Given the description of an element on the screen output the (x, y) to click on. 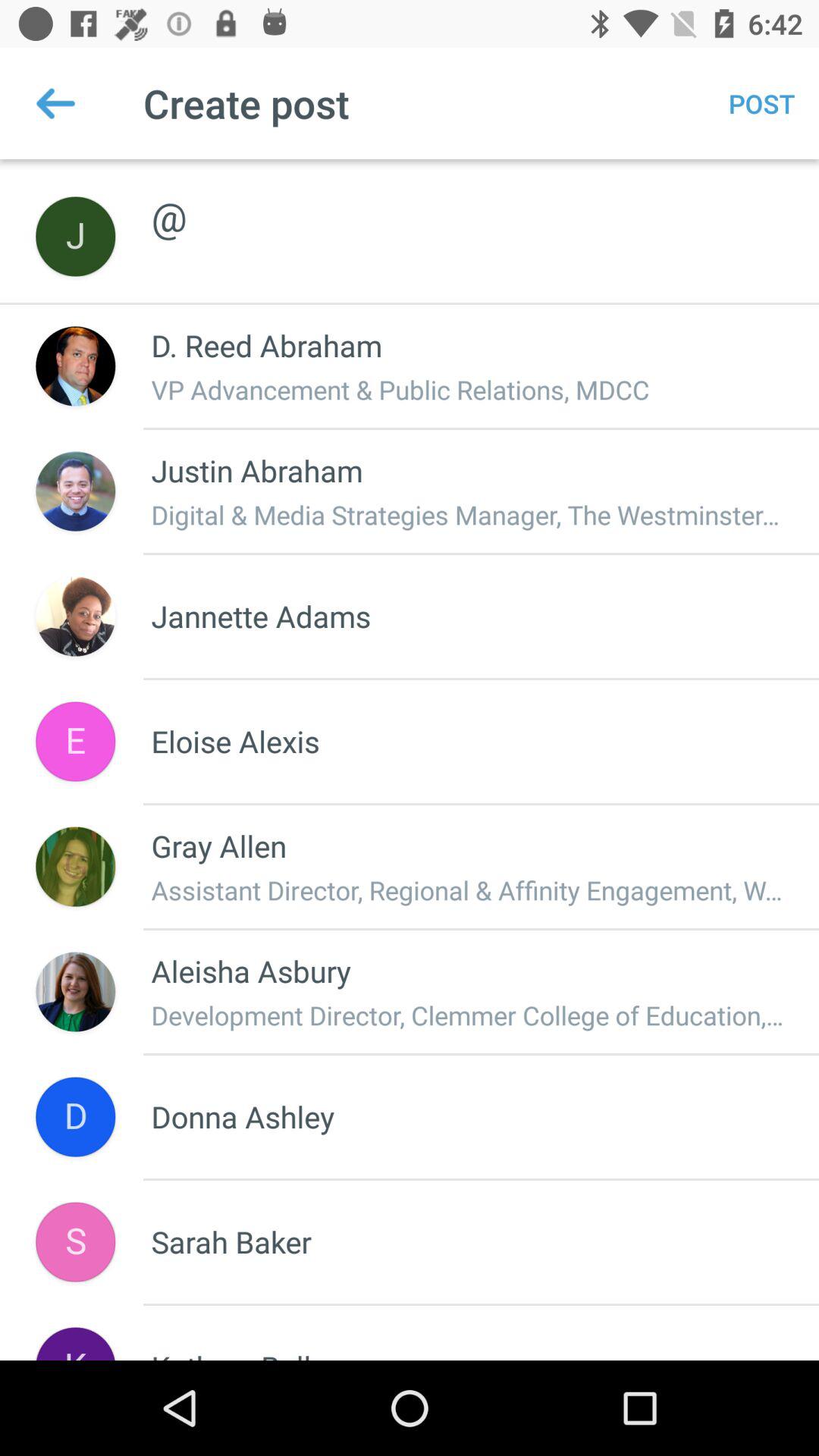
tap icon next to the create post item (55, 103)
